Given the description of an element on the screen output the (x, y) to click on. 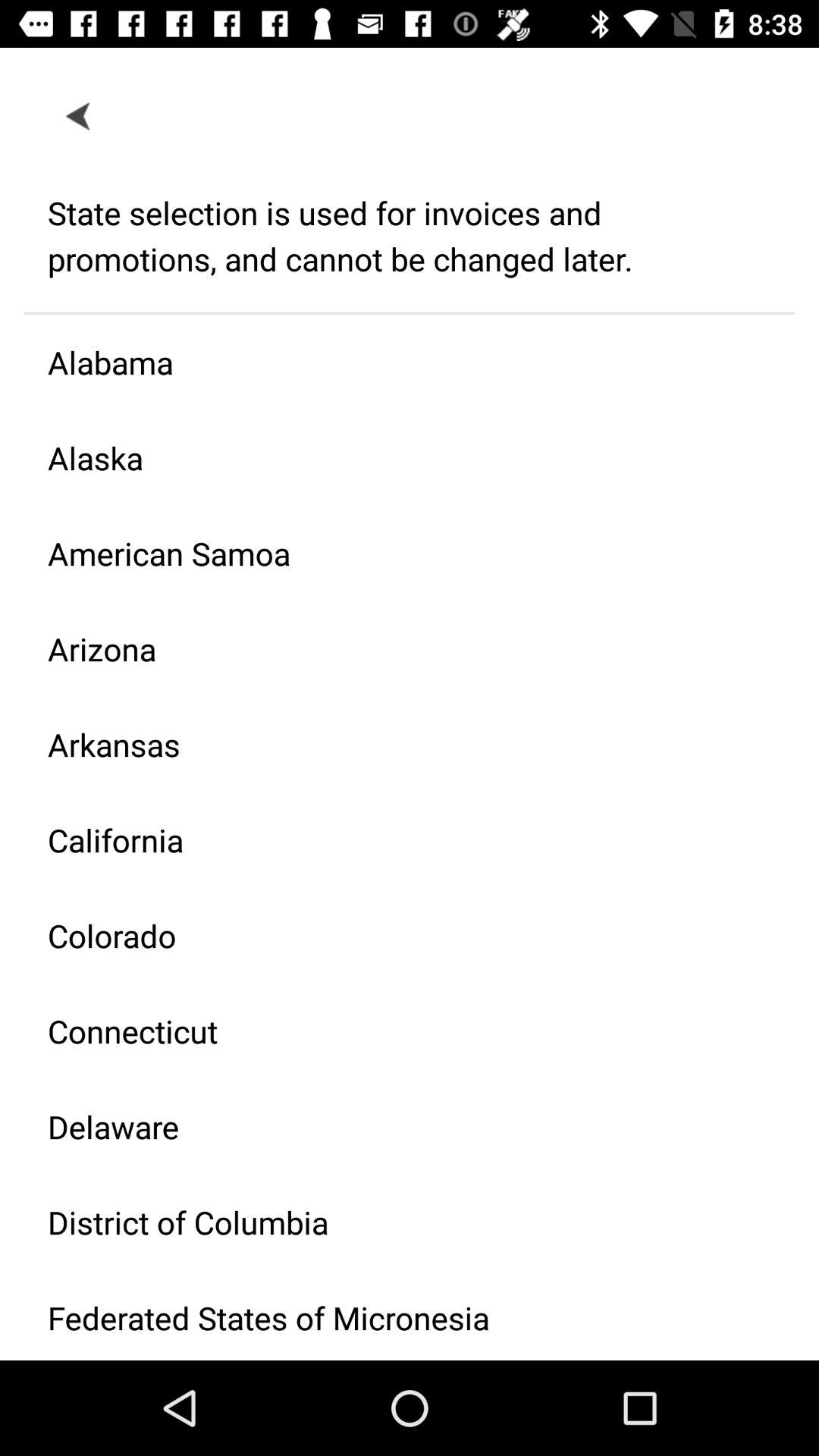
jump to american samoa item (397, 553)
